Given the description of an element on the screen output the (x, y) to click on. 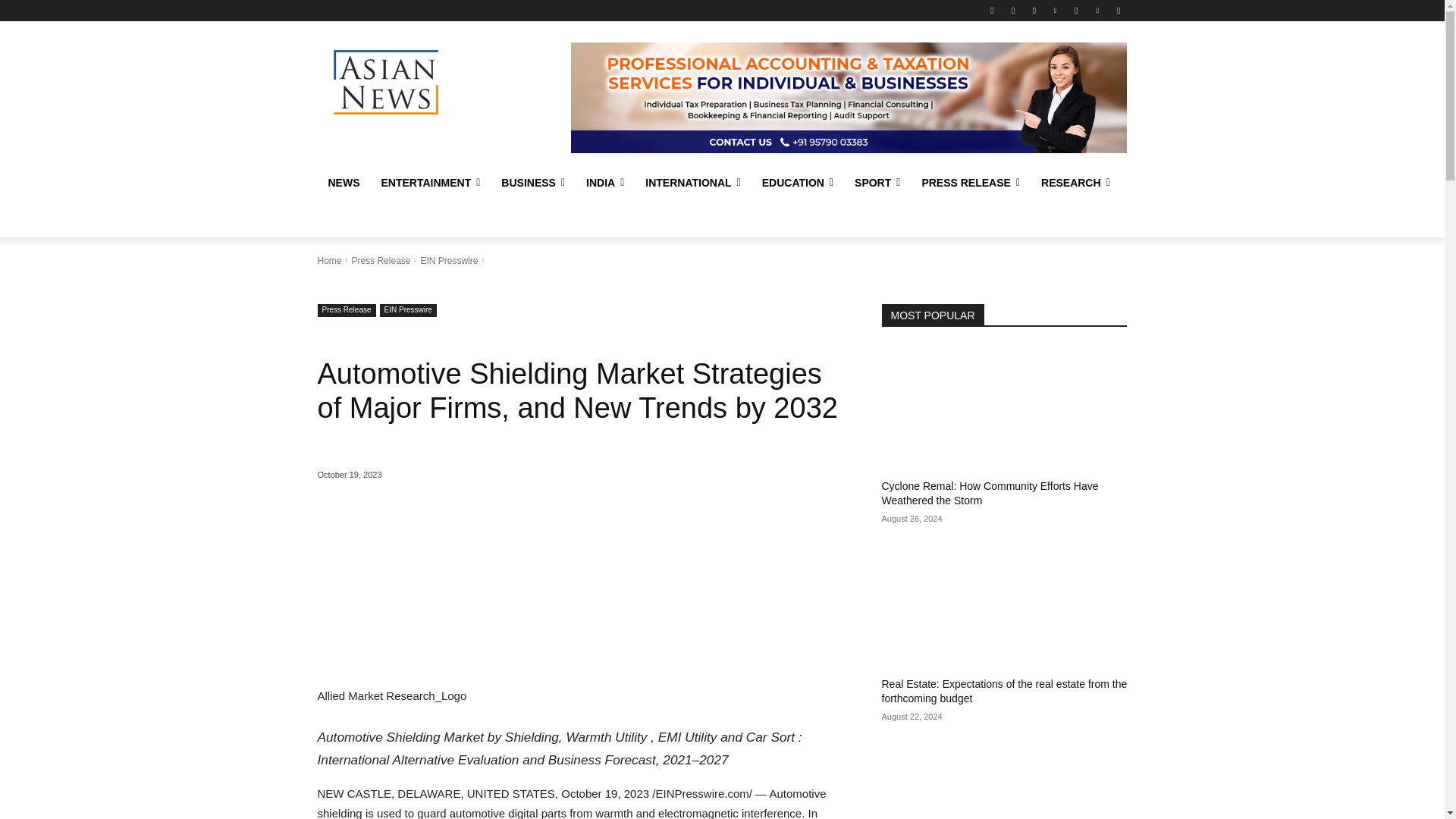
Tumblr (1075, 9)
Blogger (1097, 9)
LinkedIn (1055, 9)
Facebook (992, 9)
Twitter (1013, 9)
ENTERTAINMENT (429, 182)
Instagram (1034, 9)
NEWS (343, 182)
